Given the description of an element on the screen output the (x, y) to click on. 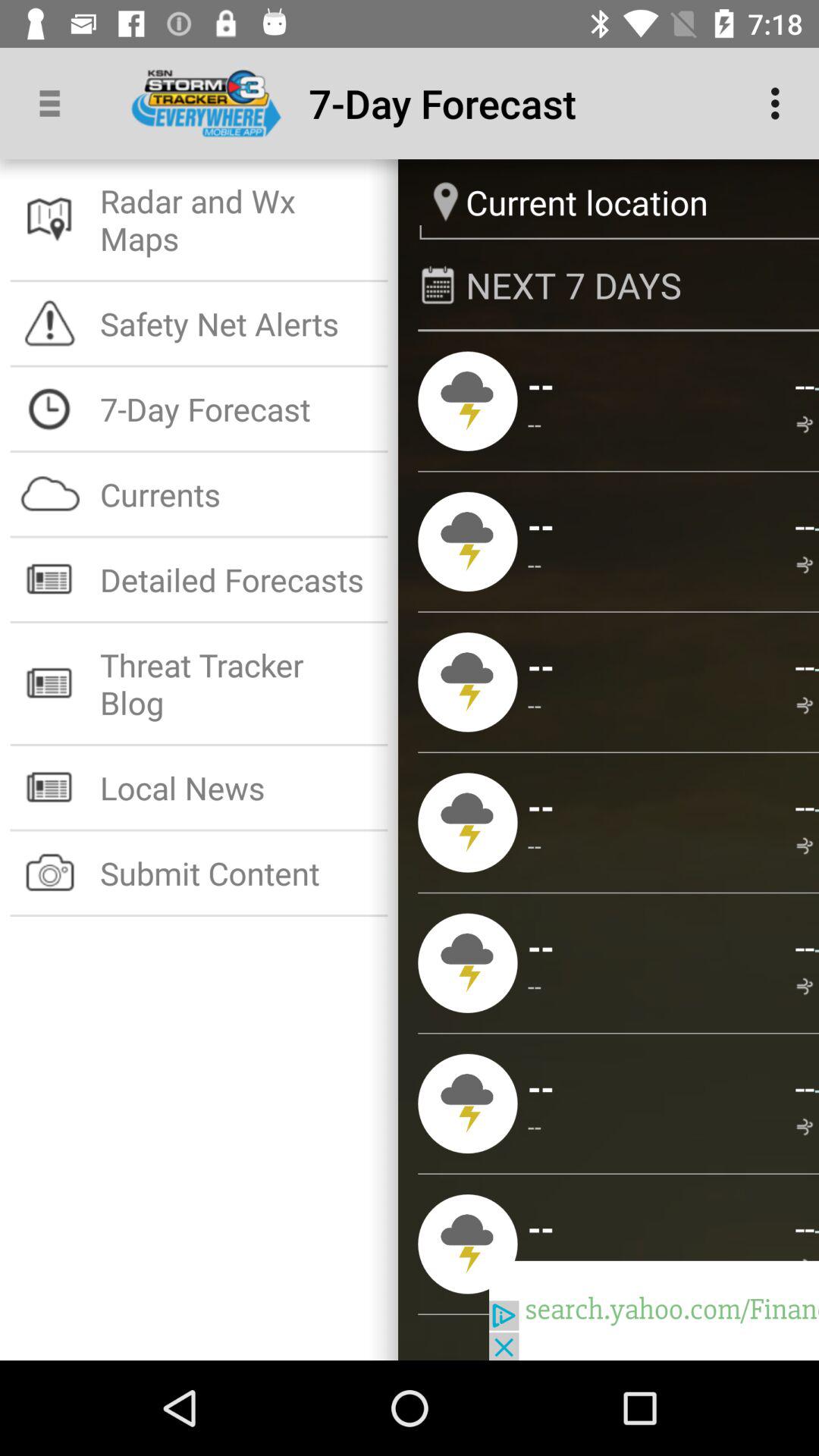
tap -- (534, 845)
